Given the description of an element on the screen output the (x, y) to click on. 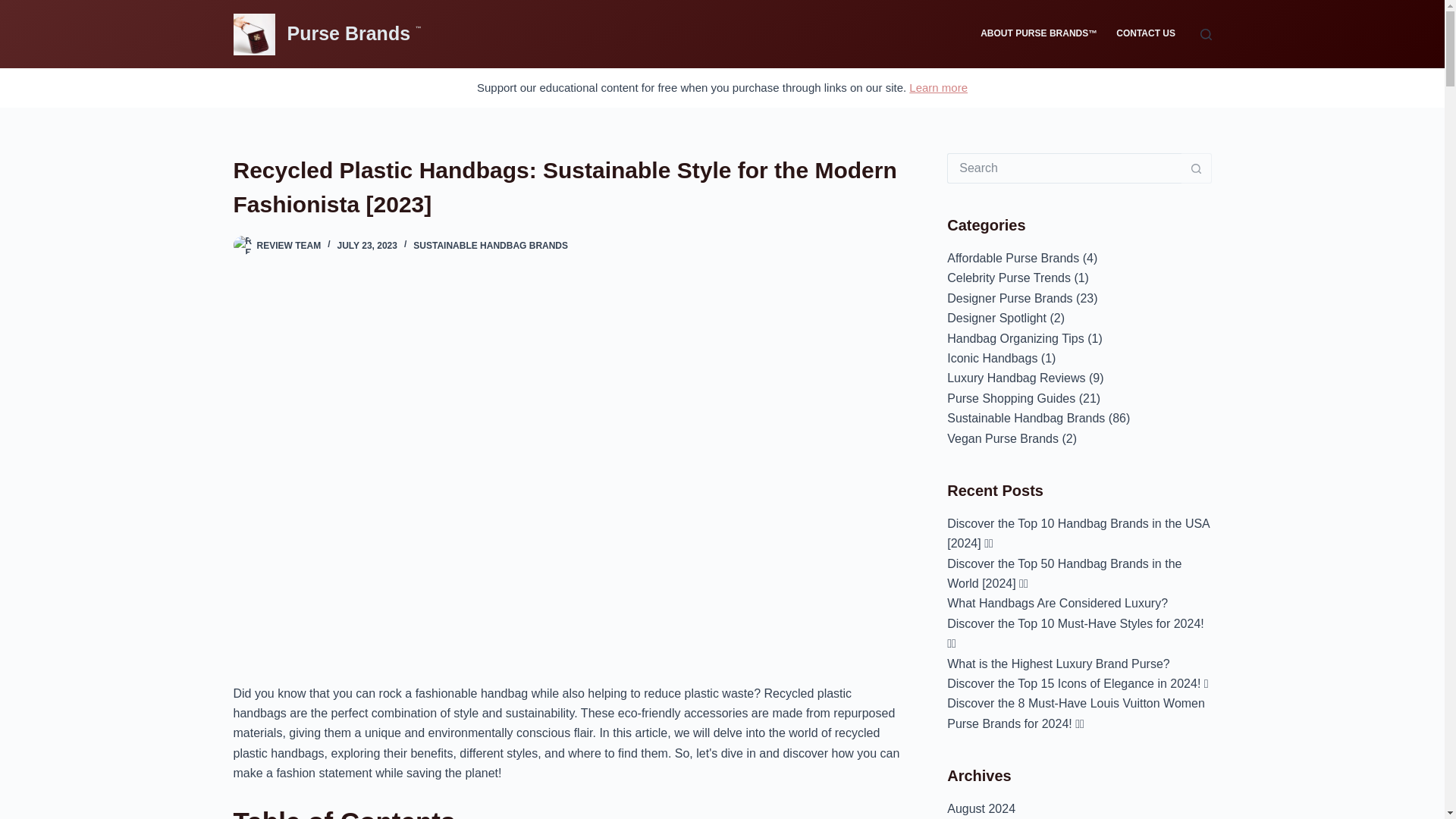
SUSTAINABLE HANDBAG BRANDS (490, 245)
Skip to content (15, 7)
Search for... (1063, 168)
Purse Brands (350, 33)
Learn more (938, 87)
REVIEW TEAM (288, 245)
Posts by Review Team (288, 245)
CONTACT US (1145, 33)
